Given the description of an element on the screen output the (x, y) to click on. 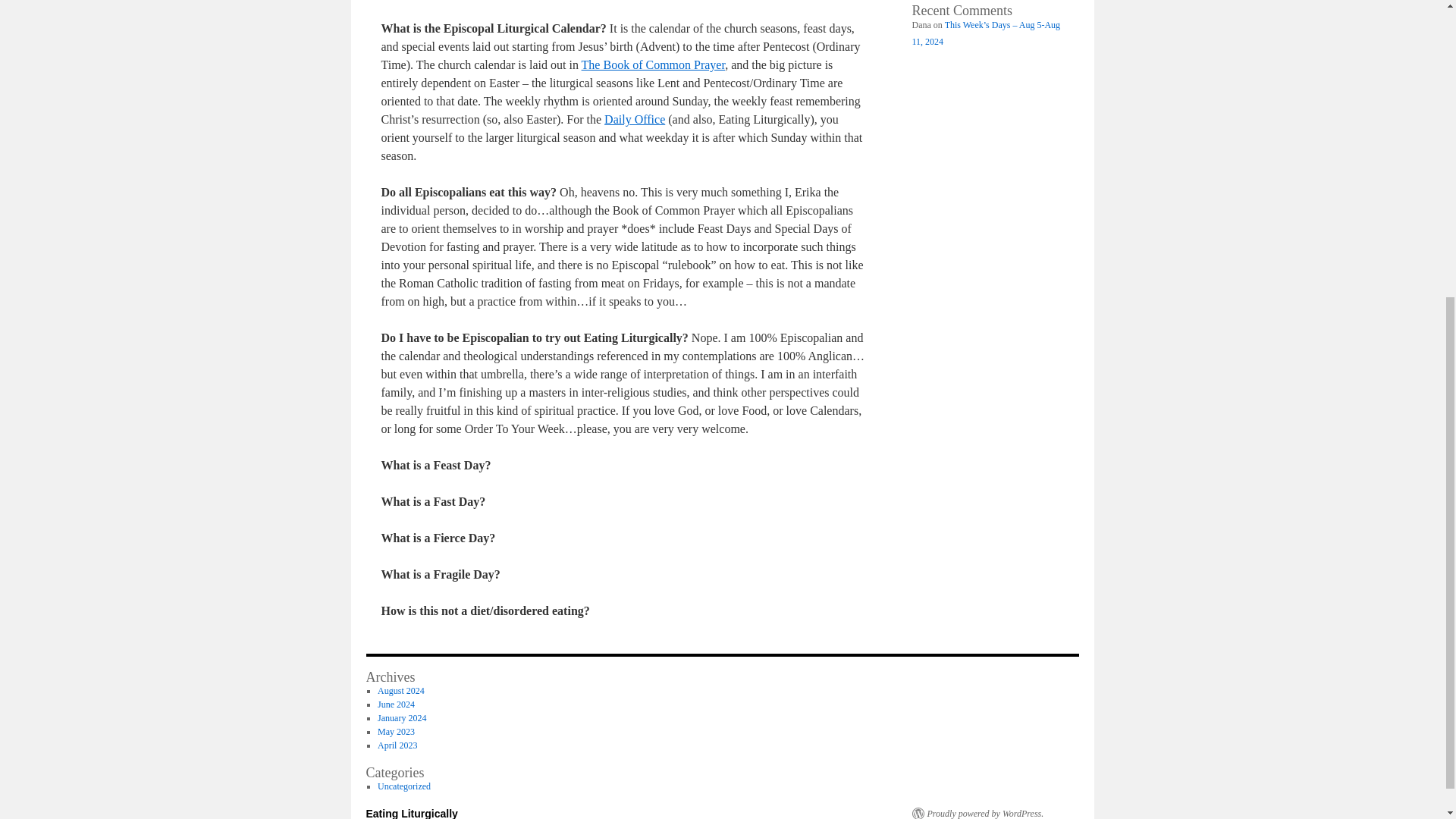
April 2023 (396, 745)
August 2024 (401, 690)
June 2024 (395, 704)
May 2023 (395, 731)
Uncategorized (403, 786)
The Book of Common Prayer (652, 64)
January 2024 (401, 717)
Daily Office (634, 119)
